Given the description of an element on the screen output the (x, y) to click on. 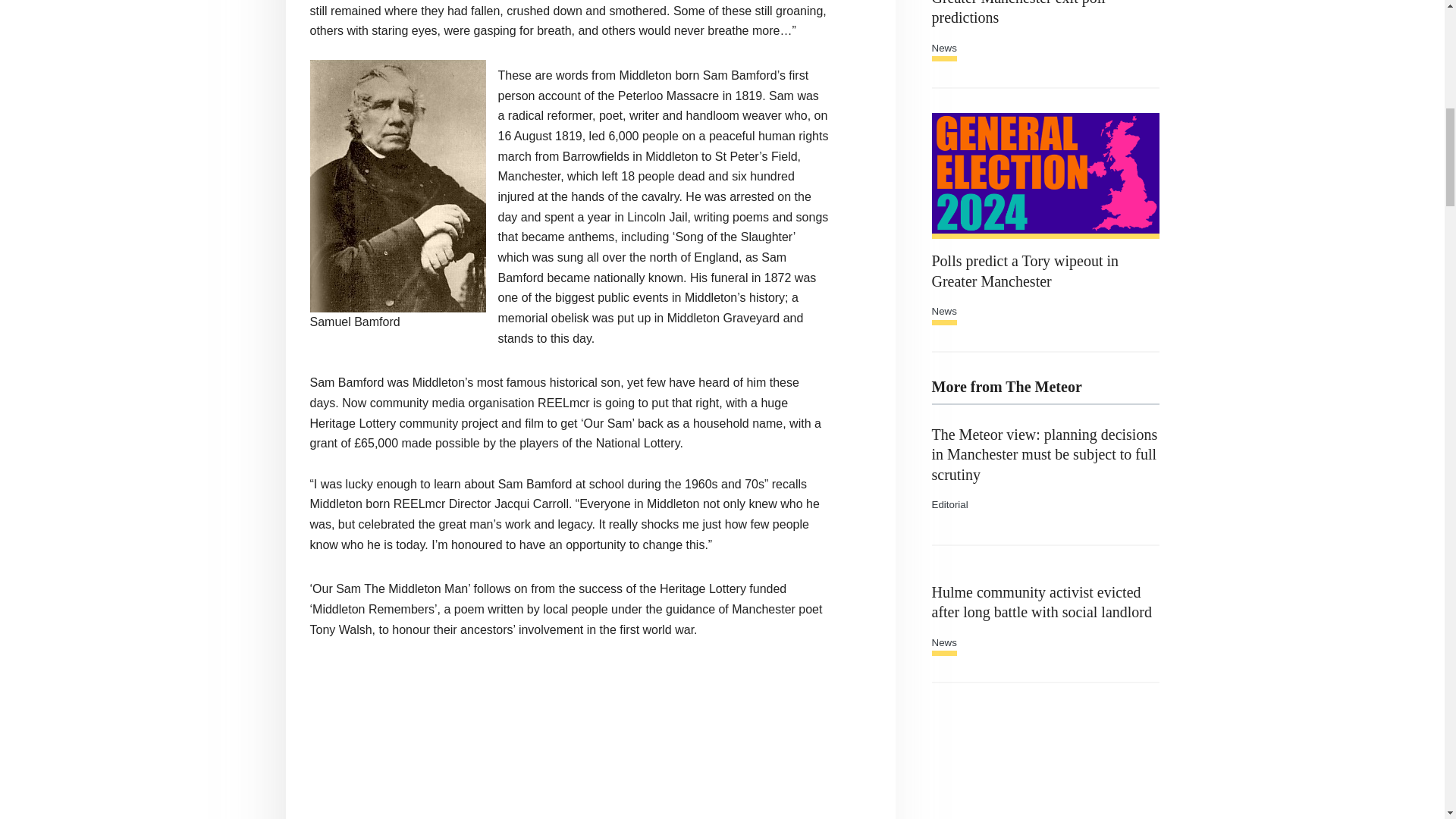
Middleton Remembers -  2014 - 8.29min - Middleton (568, 741)
